Given the description of an element on the screen output the (x, y) to click on. 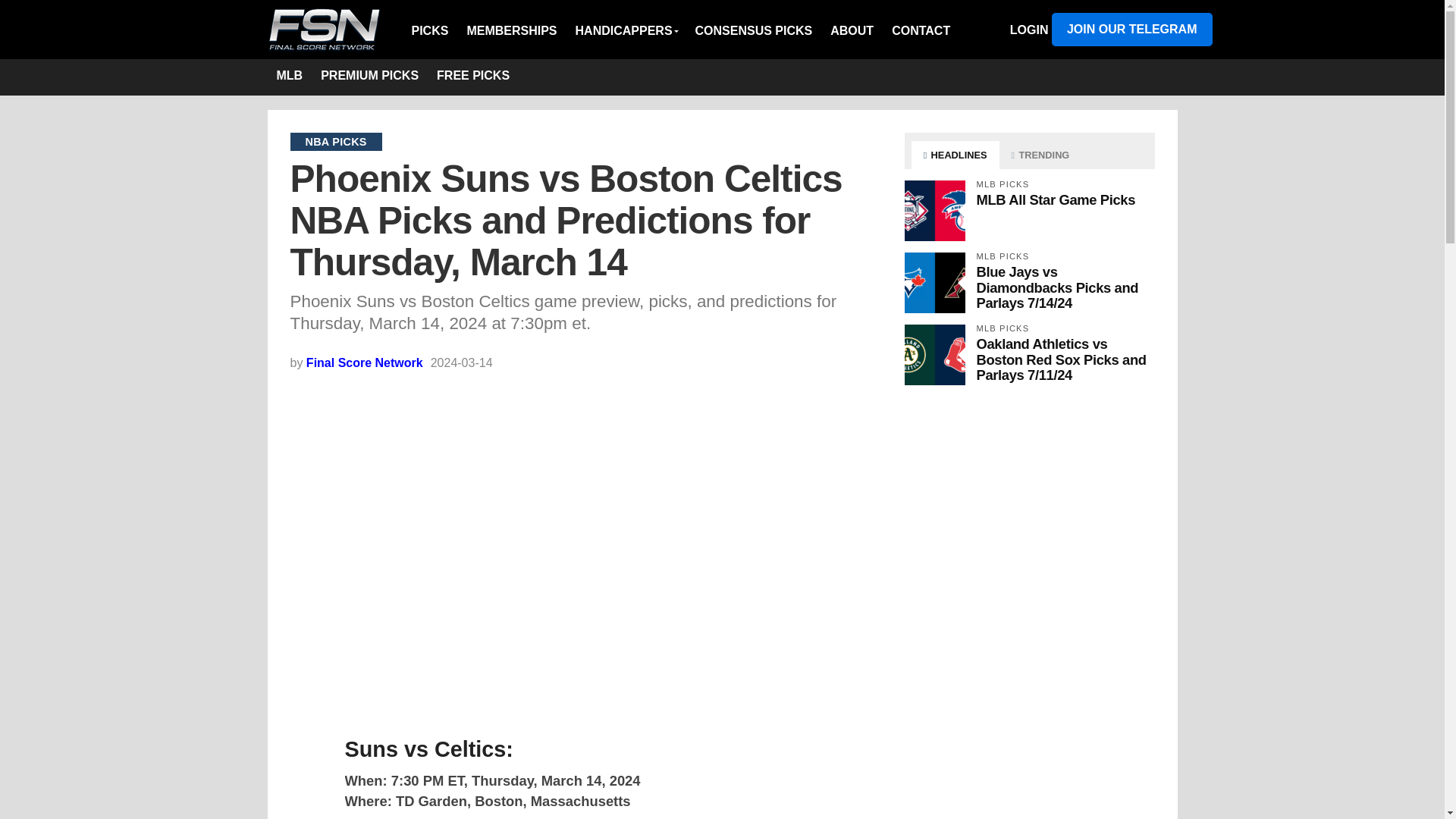
MLB (288, 76)
MEMBERSHIPS (511, 30)
HANDICAPPERS (625, 30)
CONTACT (920, 30)
LOGIN (1029, 29)
JOIN OUR TELEGRAM (1131, 29)
CONSENSUS PICKS (753, 30)
PICKS (433, 30)
ABOUT (851, 30)
Posts by Final Score Network (364, 362)
PREMIUM PICKS (369, 76)
